Given the description of an element on the screen output the (x, y) to click on. 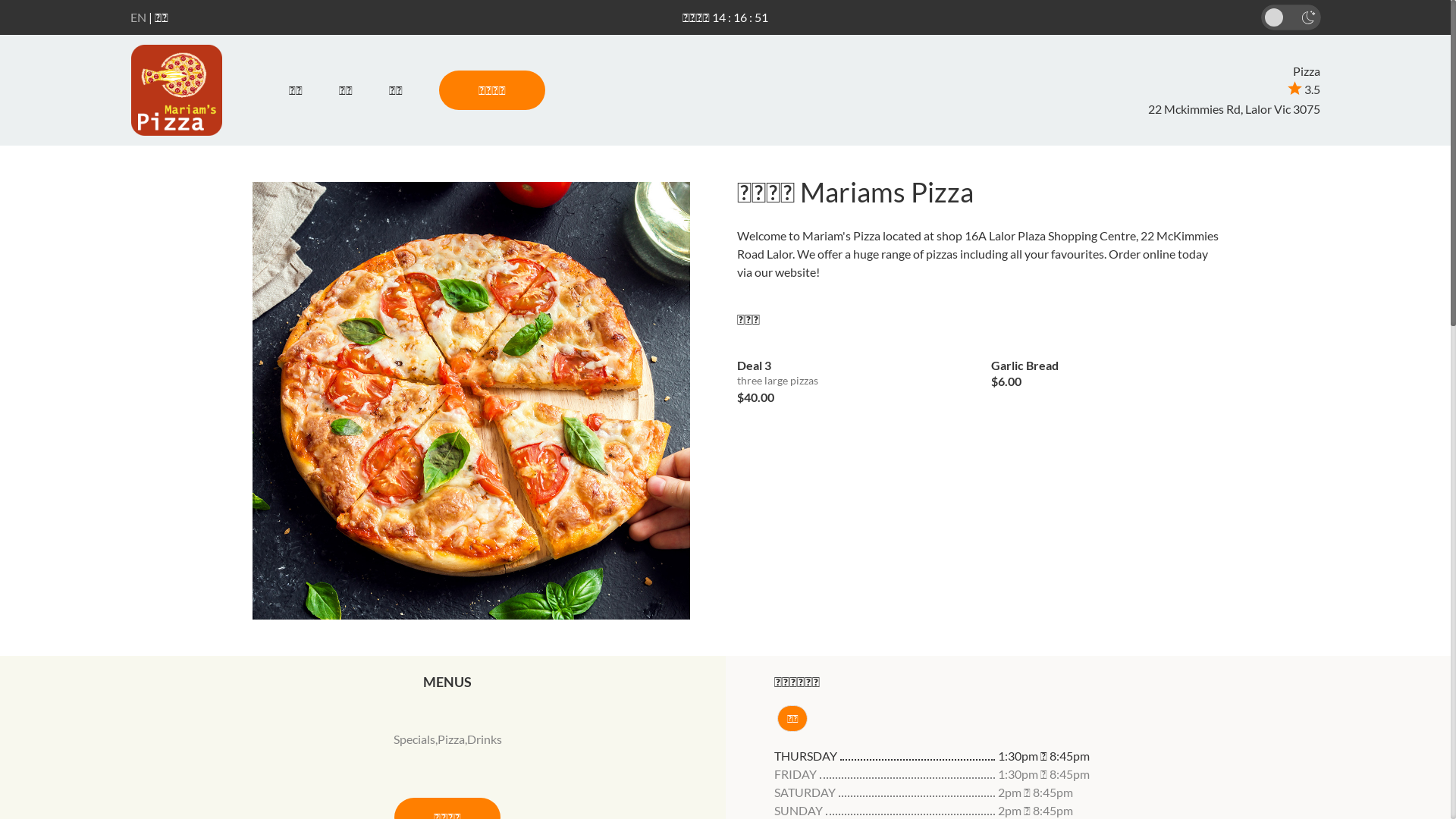
EN Element type: text (138, 16)
Drinks Element type: text (484, 738)
Pizza Element type: text (450, 738)
Specials Element type: text (414, 738)
Deal 3
three large pizzas
$40.00 Element type: text (853, 376)
Garlic Bread
$6.00 Element type: text (1107, 368)
3.5 Element type: text (1303, 88)
